Given the description of an element on the screen output the (x, y) to click on. 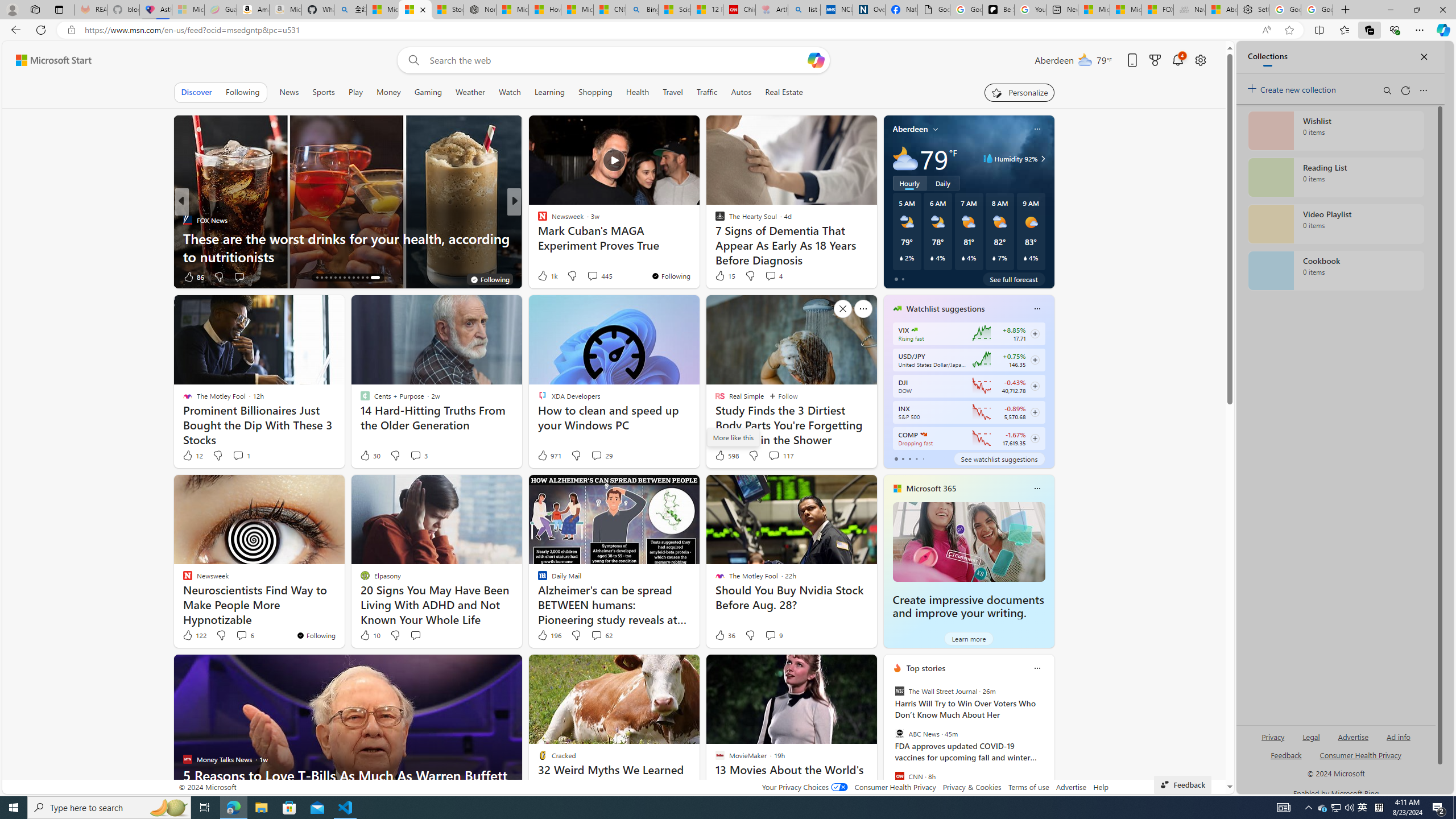
View comments 4 Comment (773, 275)
10 Like (368, 634)
Shopping (594, 92)
